Given the description of an element on the screen output the (x, y) to click on. 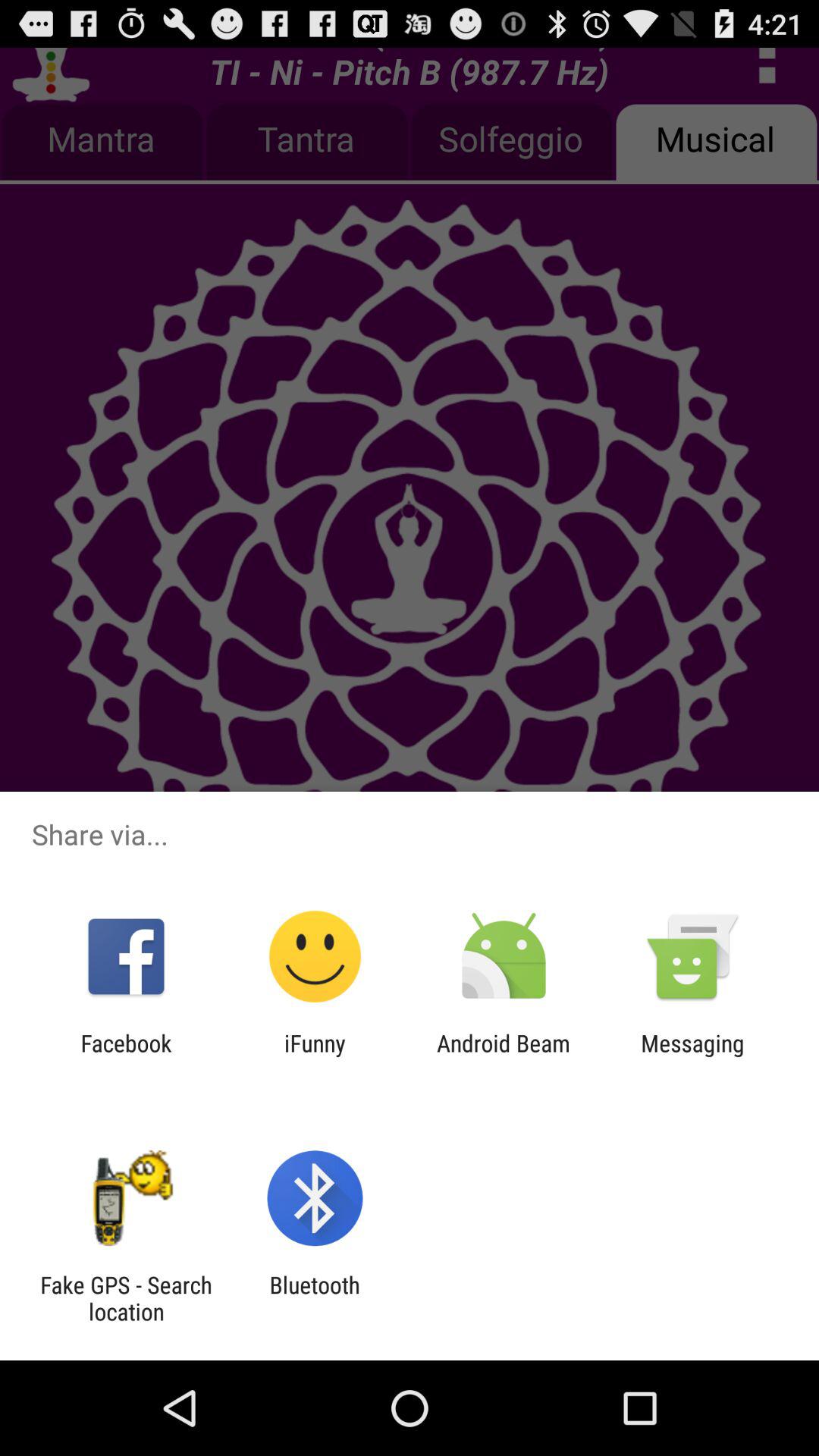
click item to the right of the ifunny item (503, 1056)
